Given the description of an element on the screen output the (x, y) to click on. 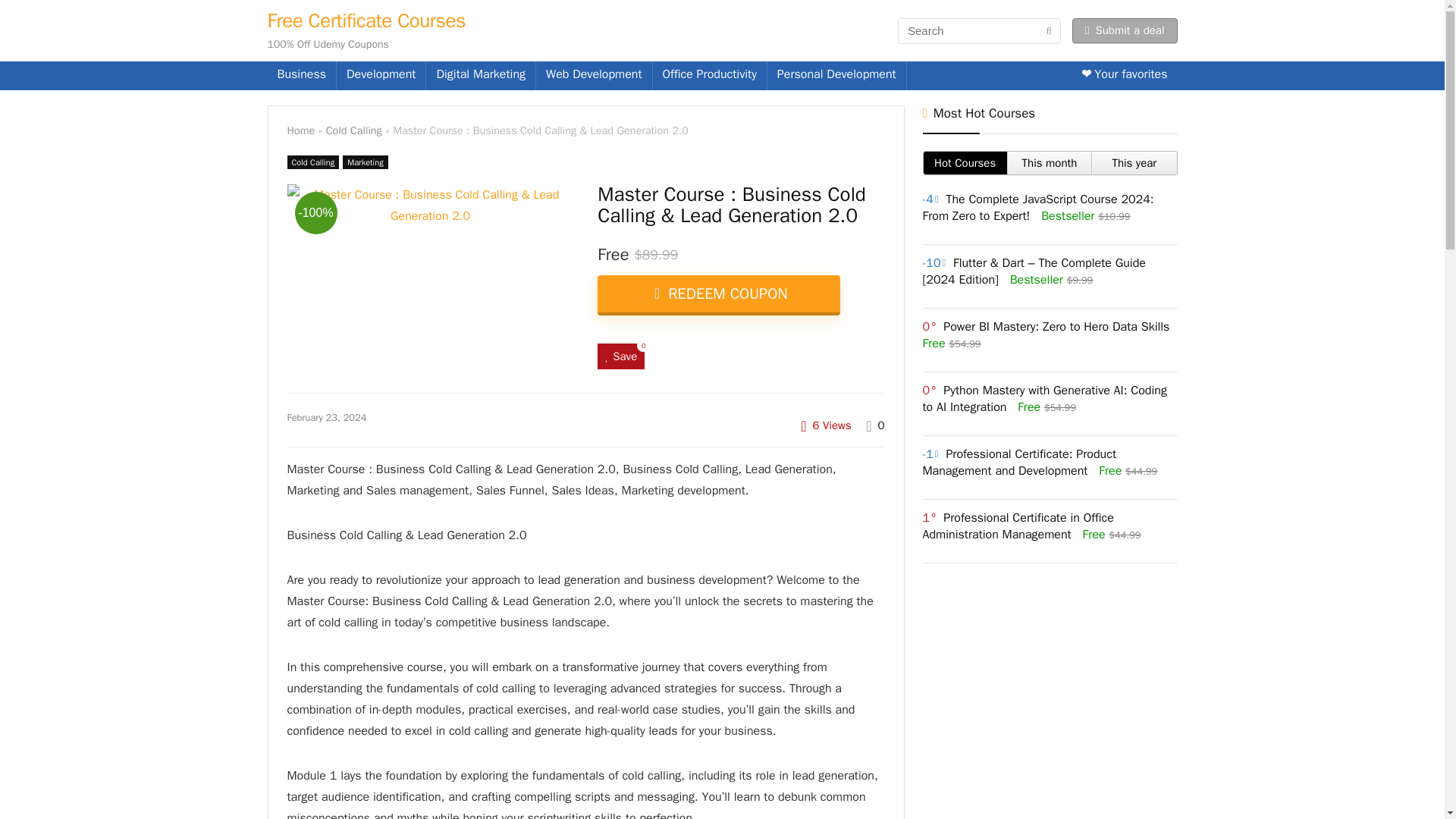
Business (301, 75)
Digital Marketing (480, 75)
Web Development (593, 75)
The Complete JavaScript Course 2024: From Zero to Expert! (1037, 207)
View all posts in Cold Calling (312, 161)
Professional Certificate: Product Management and Development (1018, 462)
Professional Certificate in Office Administration Management (1017, 526)
Office Productivity (709, 75)
View all posts in Marketing (364, 161)
Power BI Mastery: Zero to Hero Data Skills (1056, 326)
Cold Calling (312, 161)
0 (881, 425)
Home (300, 130)
Cold Calling (353, 130)
Marketing (364, 161)
